Given the description of an element on the screen output the (x, y) to click on. 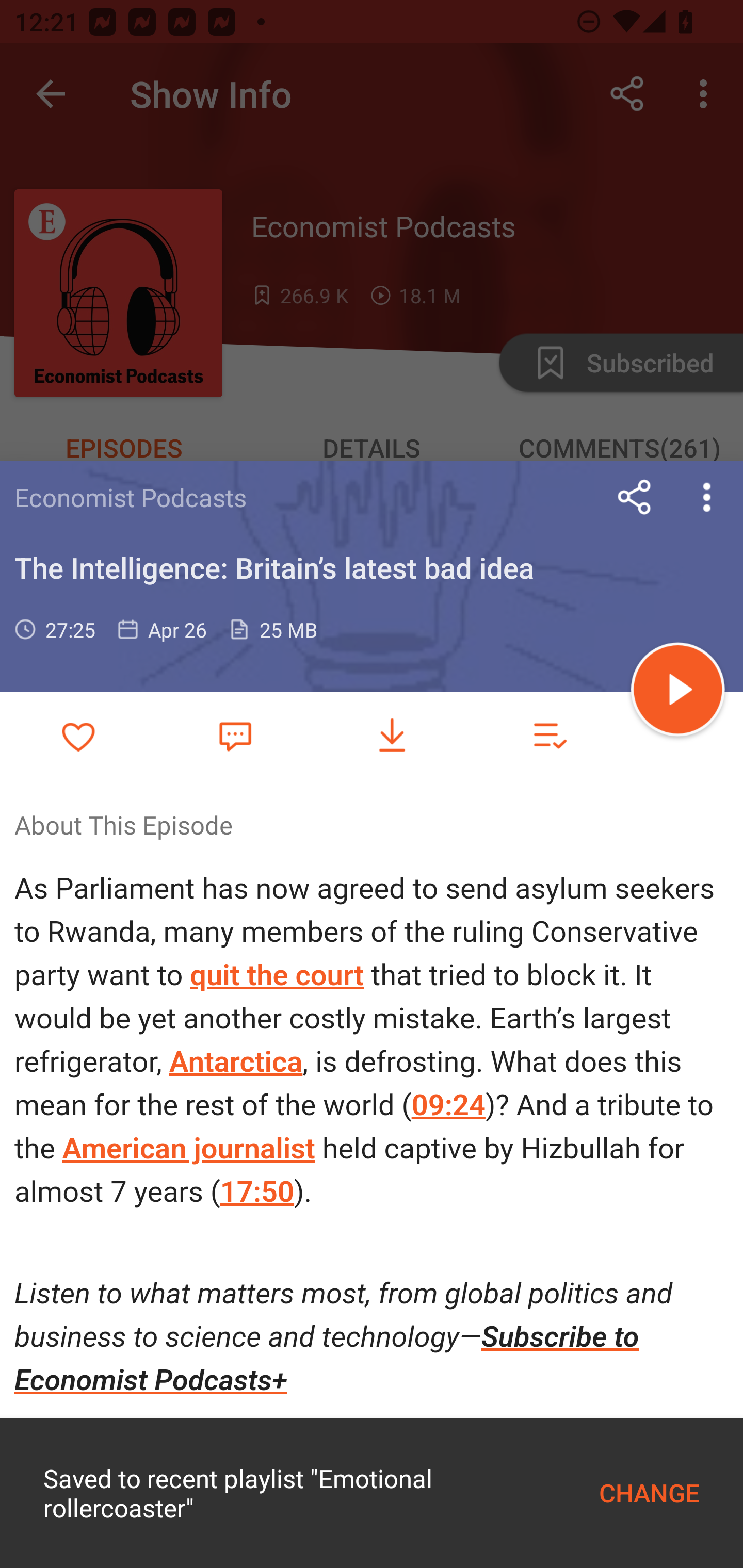
Share (634, 496)
more options (706, 496)
Play (677, 692)
Favorite (234, 735)
Add to Favorites (78, 735)
Download (391, 735)
Add to playlist (548, 735)
quit the court (276, 976)
Antarctica (235, 1062)
09:24 (447, 1104)
American journalist (188, 1148)
17:50 (257, 1192)
Subscribe to Economist Podcasts+ (327, 1357)
CHANGE (648, 1492)
